Given the description of an element on the screen output the (x, y) to click on. 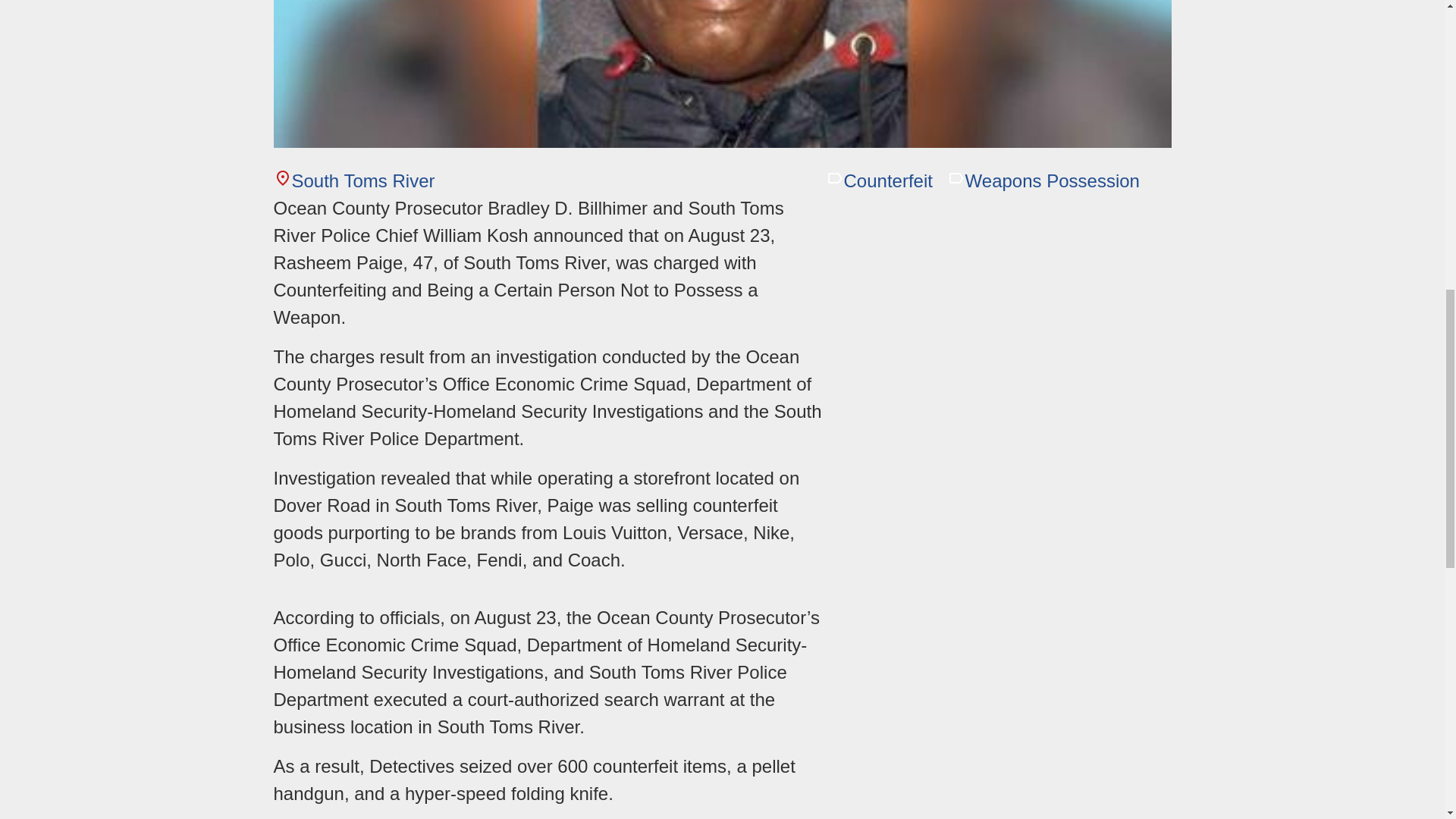
Weapons Possession (1043, 180)
Counterfeit (878, 180)
South Toms River (353, 180)
